Given the description of an element on the screen output the (x, y) to click on. 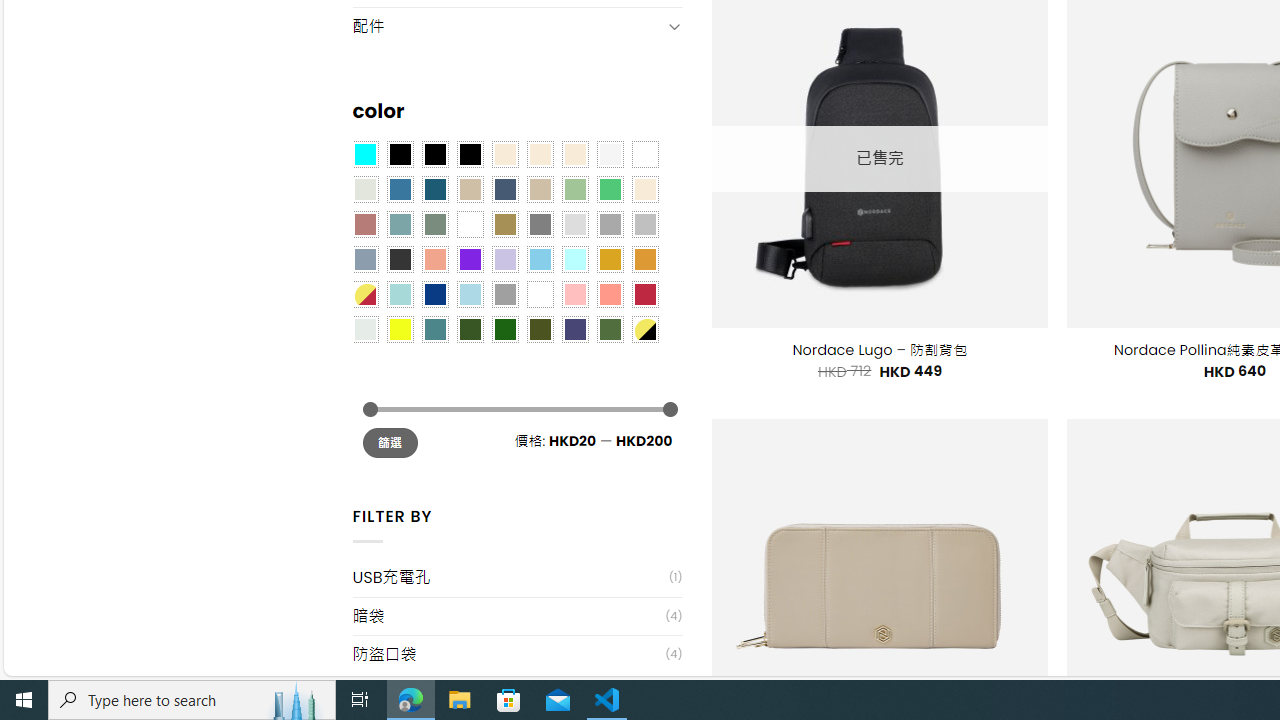
Dull Nickle (364, 329)
